Given the description of an element on the screen output the (x, y) to click on. 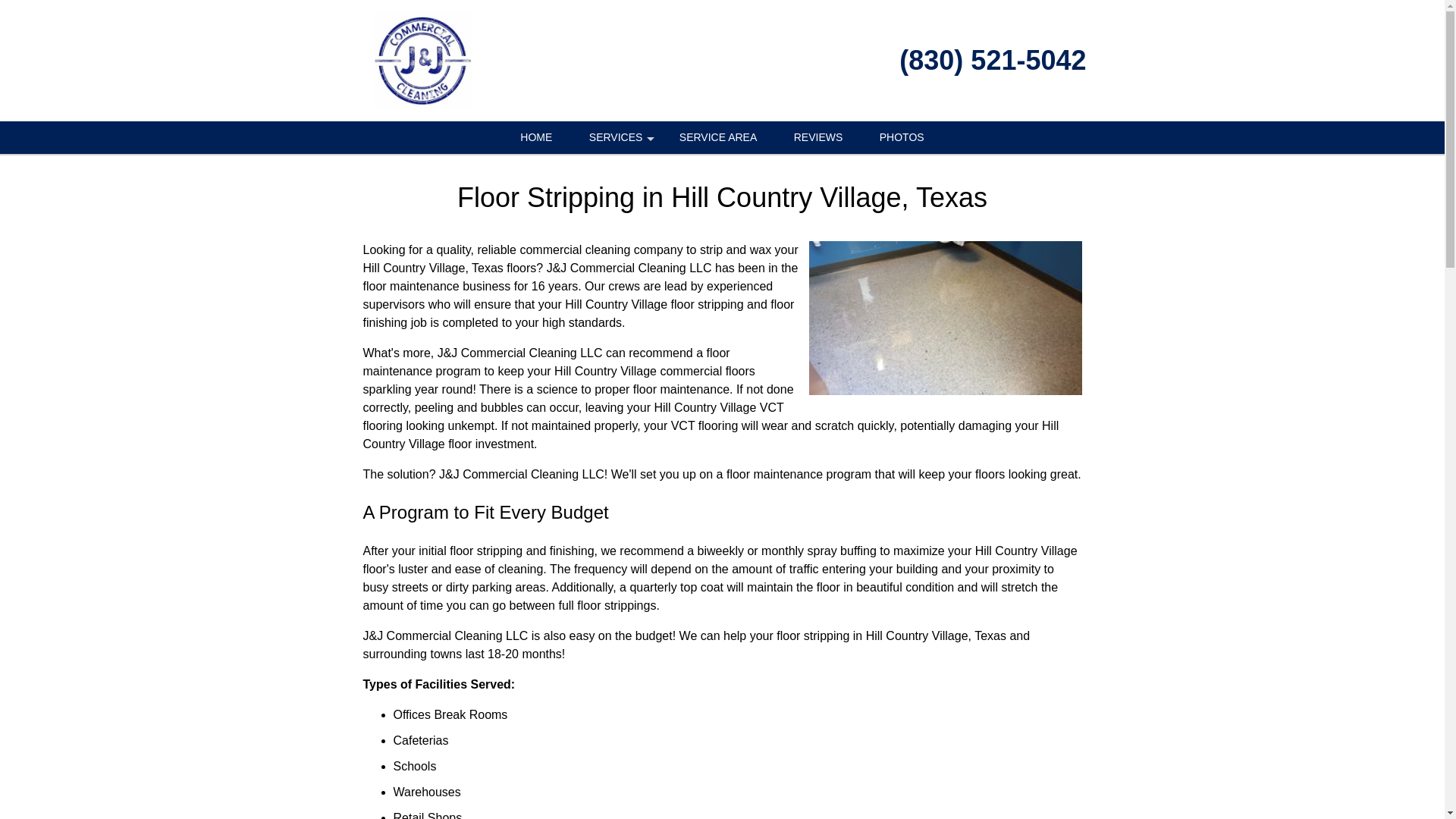
PHOTOS (901, 137)
SERVICE AREA (717, 137)
HOME (536, 137)
REVIEWS (818, 137)
